Given the description of an element on the screen output the (x, y) to click on. 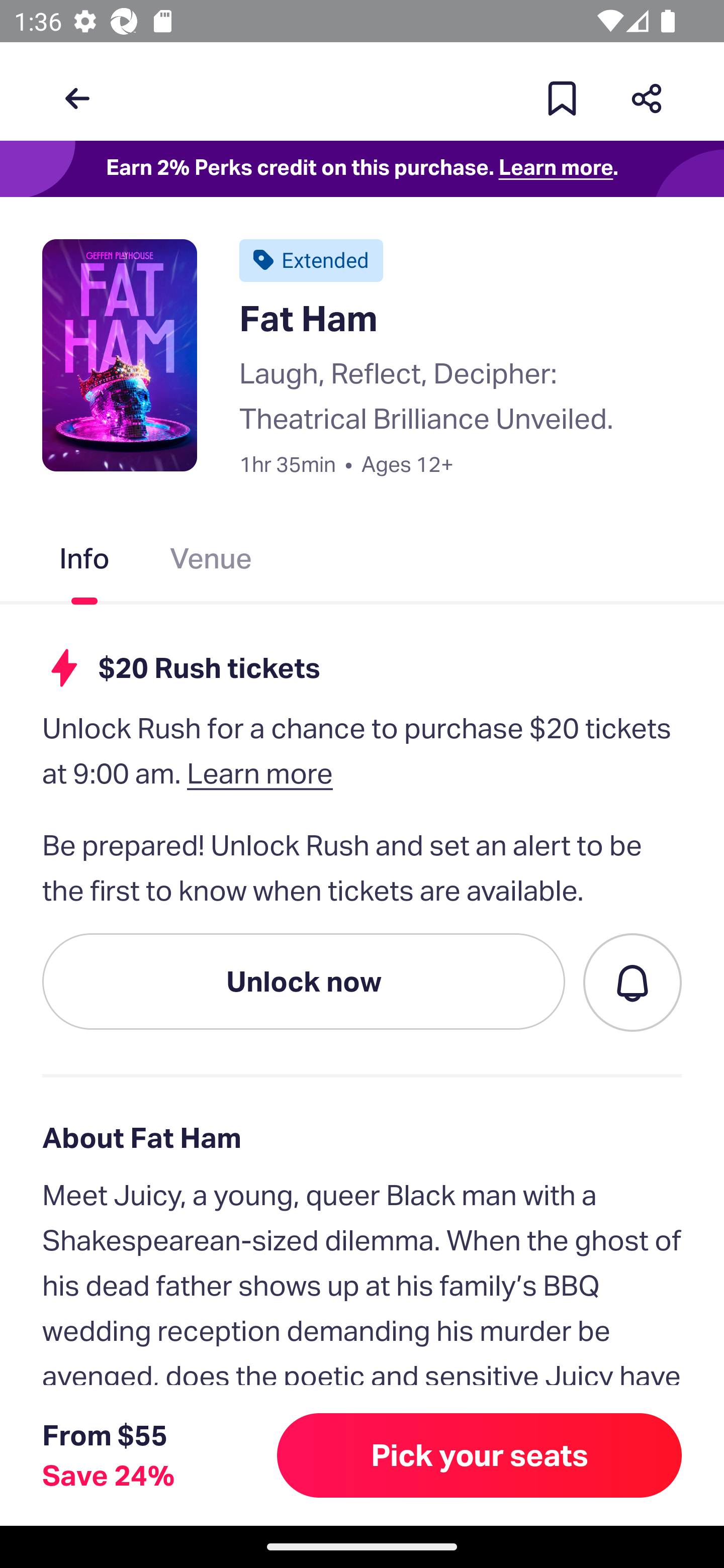
Earn 2% Perks credit on this purchase. Learn more. (362, 169)
Venue (210, 562)
Unlock now (303, 981)
About Fat Ham (361, 1137)
Read more (109, 1429)
Pick your seats (479, 1454)
